Given the description of an element on the screen output the (x, y) to click on. 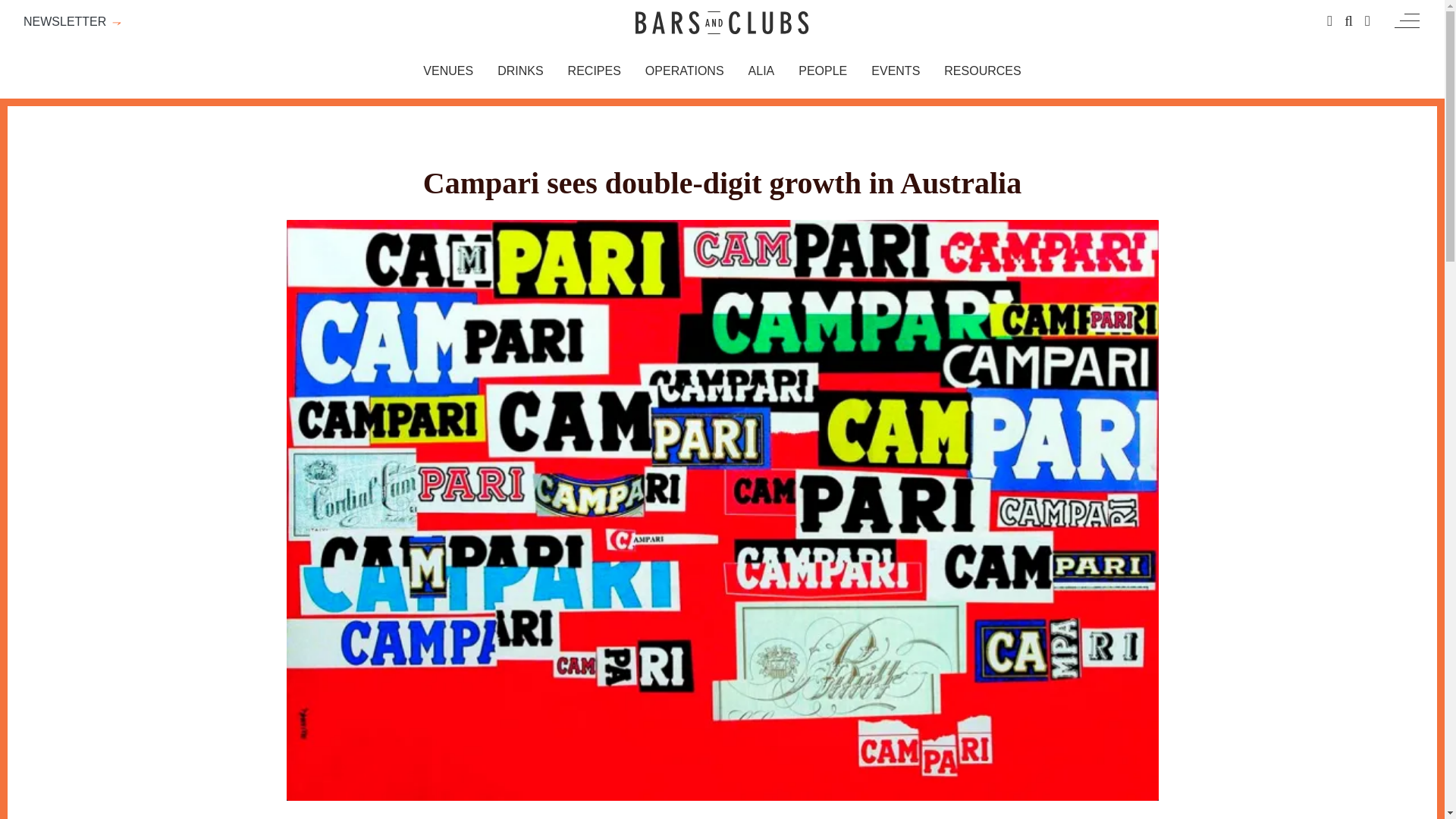
Operations (684, 71)
People (822, 71)
DRINKS (520, 71)
Search (1347, 21)
Recipes (594, 71)
Drinks (520, 71)
ALIA (761, 71)
Venues (448, 71)
VENUES (448, 71)
RESOURCES (981, 71)
Events (895, 71)
Contact page (1329, 21)
PEOPLE (822, 71)
EVENTS (895, 71)
OPERATIONS (684, 71)
